Given the description of an element on the screen output the (x, y) to click on. 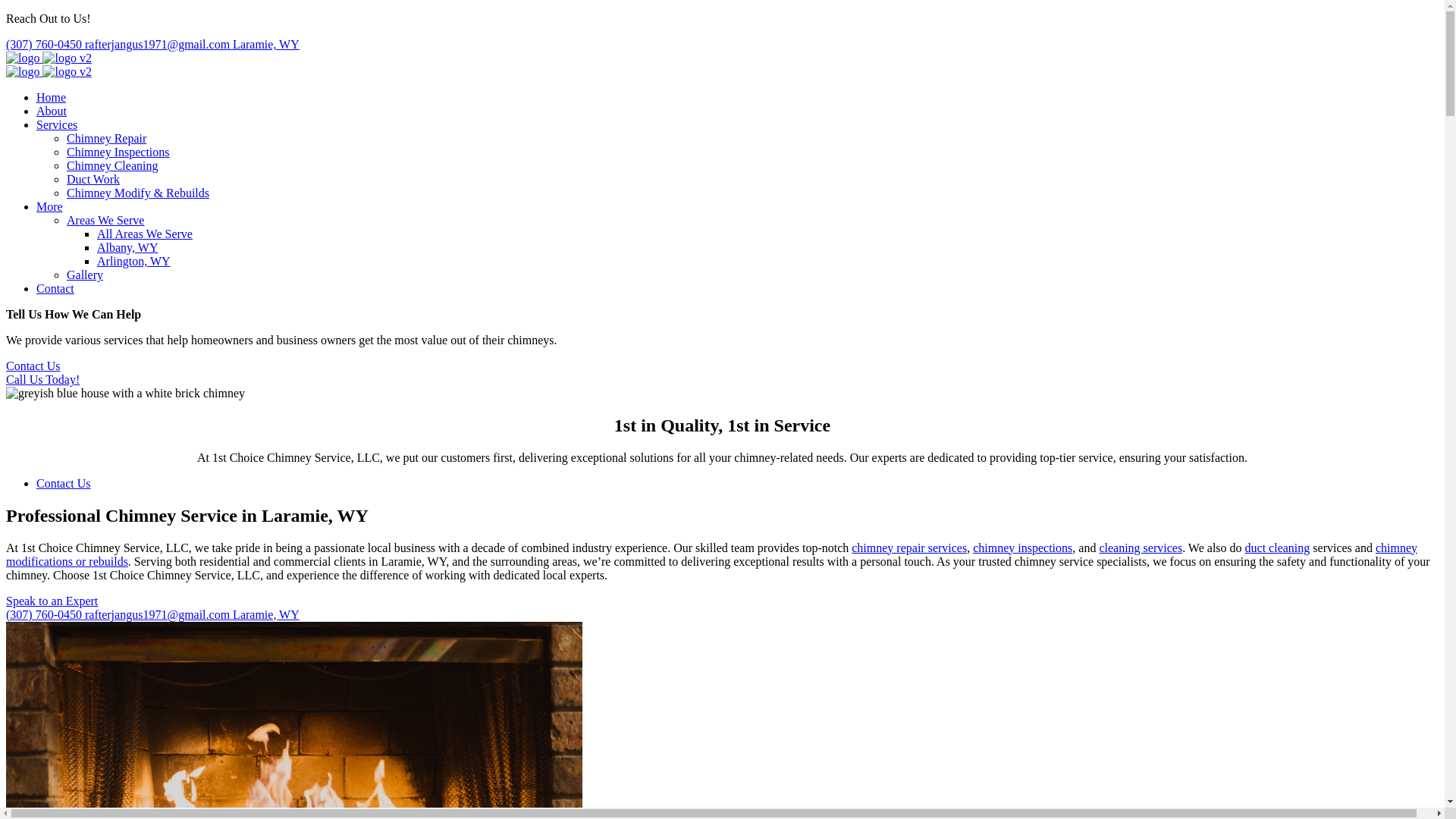
Contact Us Element type: text (63, 482)
Laramie, WY Element type: text (265, 614)
All Areas We Serve Element type: text (144, 233)
Speak to an Expert Element type: text (51, 600)
(307) 760-0450 Element type: text (45, 43)
Albany, WY Element type: text (127, 247)
More Element type: text (49, 206)
Contact Element type: text (55, 288)
Areas We Serve Element type: text (105, 219)
cleaning services Element type: text (1140, 547)
(307) 760-0450 Element type: text (45, 614)
Chimney Inspections Element type: text (117, 151)
Services Element type: text (56, 124)
chimney modifications or rebuilds Element type: text (711, 554)
Gallery Element type: text (84, 274)
chimney inspections Element type: text (1022, 547)
Chimney Modify & Rebuilds Element type: text (137, 192)
About Element type: text (51, 110)
Call Us Today! Element type: text (42, 379)
duct cleaning Element type: text (1277, 547)
Arlington, WY Element type: text (133, 260)
rafterjangus1971@gmail.com Element type: text (158, 614)
Home Element type: text (50, 97)
Chimney Repair Element type: text (106, 137)
chimney repair services Element type: text (908, 547)
Contact Us Element type: text (33, 365)
Chimney Cleaning Element type: text (111, 165)
Laramie, WY Element type: text (265, 43)
Duct Work Element type: text (92, 178)
rafterjangus1971@gmail.com Element type: text (158, 43)
